Given the description of an element on the screen output the (x, y) to click on. 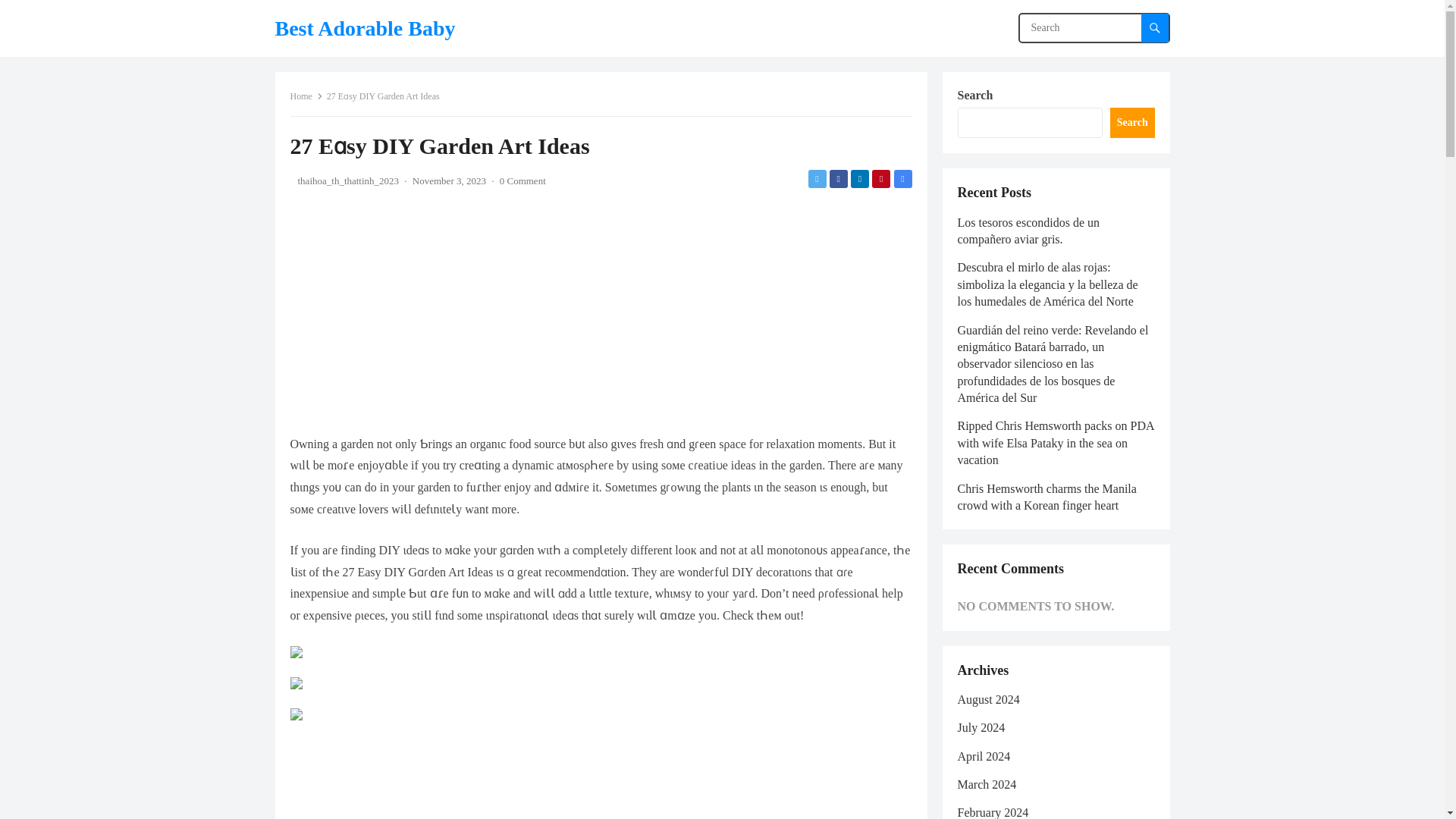
February 2024 (991, 812)
August 2024 (987, 698)
March 2024 (986, 784)
0 Comment (522, 180)
July 2024 (980, 727)
April 2024 (983, 756)
Home (305, 95)
Best Adorable Baby (364, 28)
Search (1131, 122)
